Given the description of an element on the screen output the (x, y) to click on. 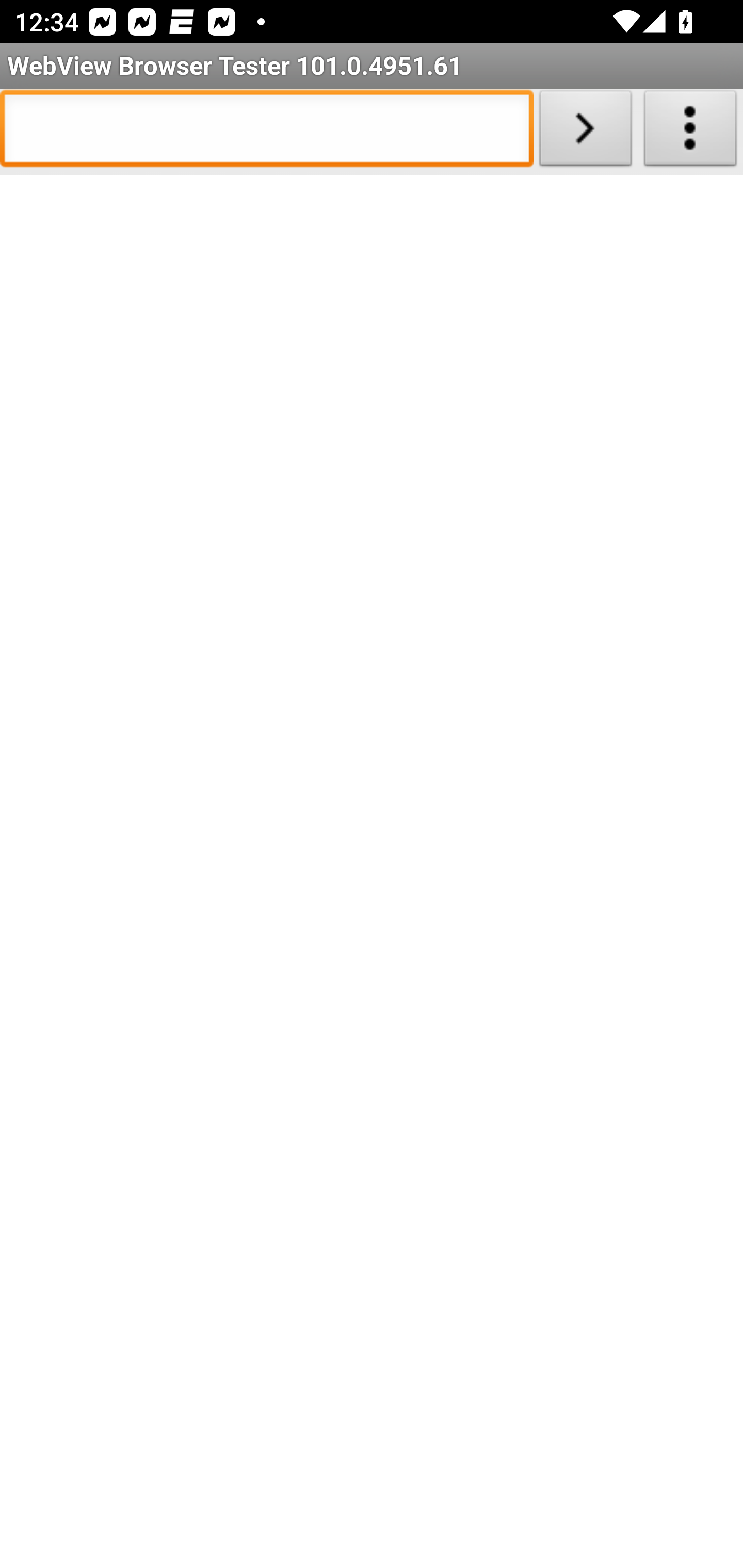
Load URL (585, 132)
About WebView (690, 132)
